Given the description of an element on the screen output the (x, y) to click on. 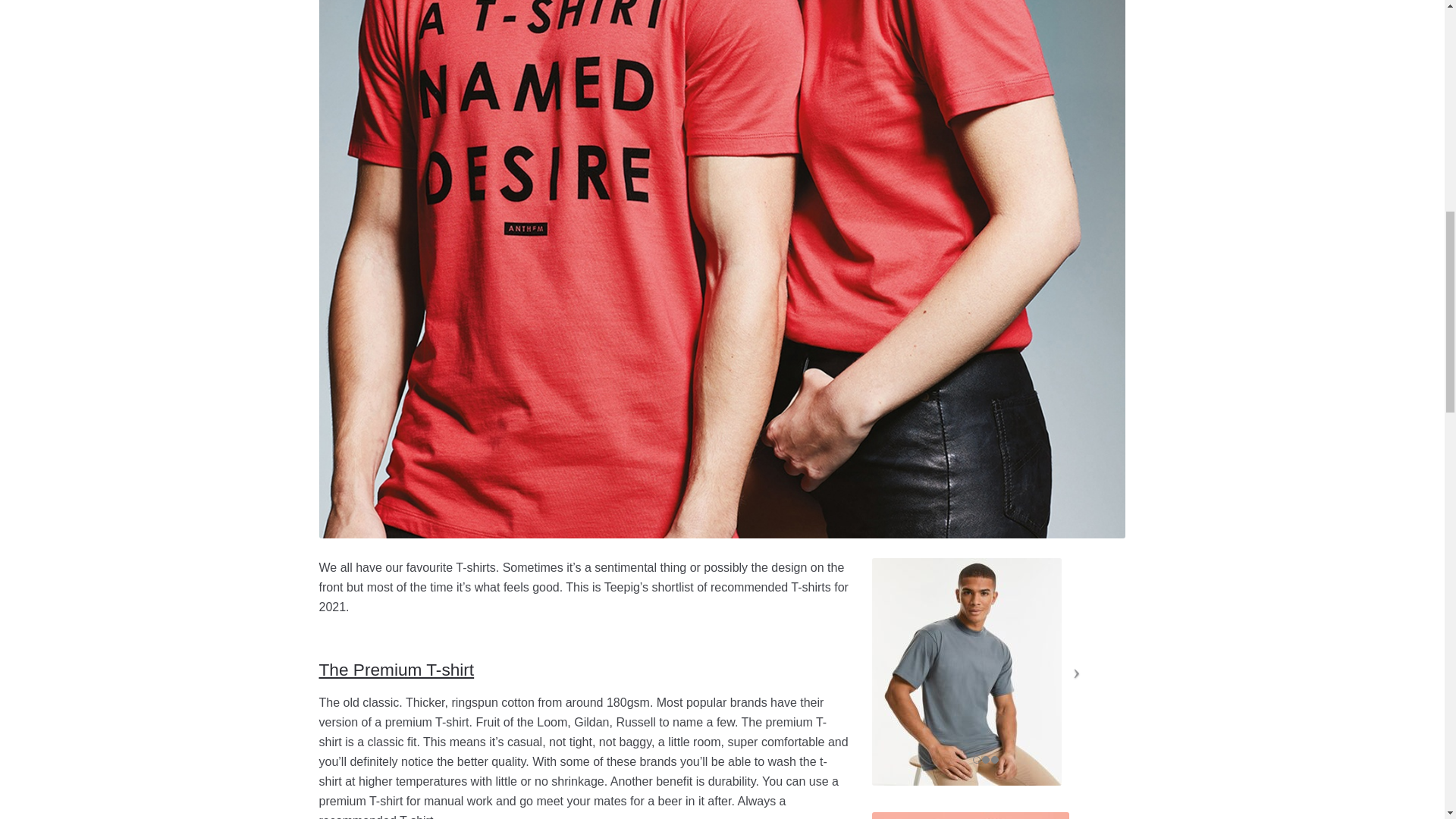
341-2 (970, 815)
